Given the description of an element on the screen output the (x, y) to click on. 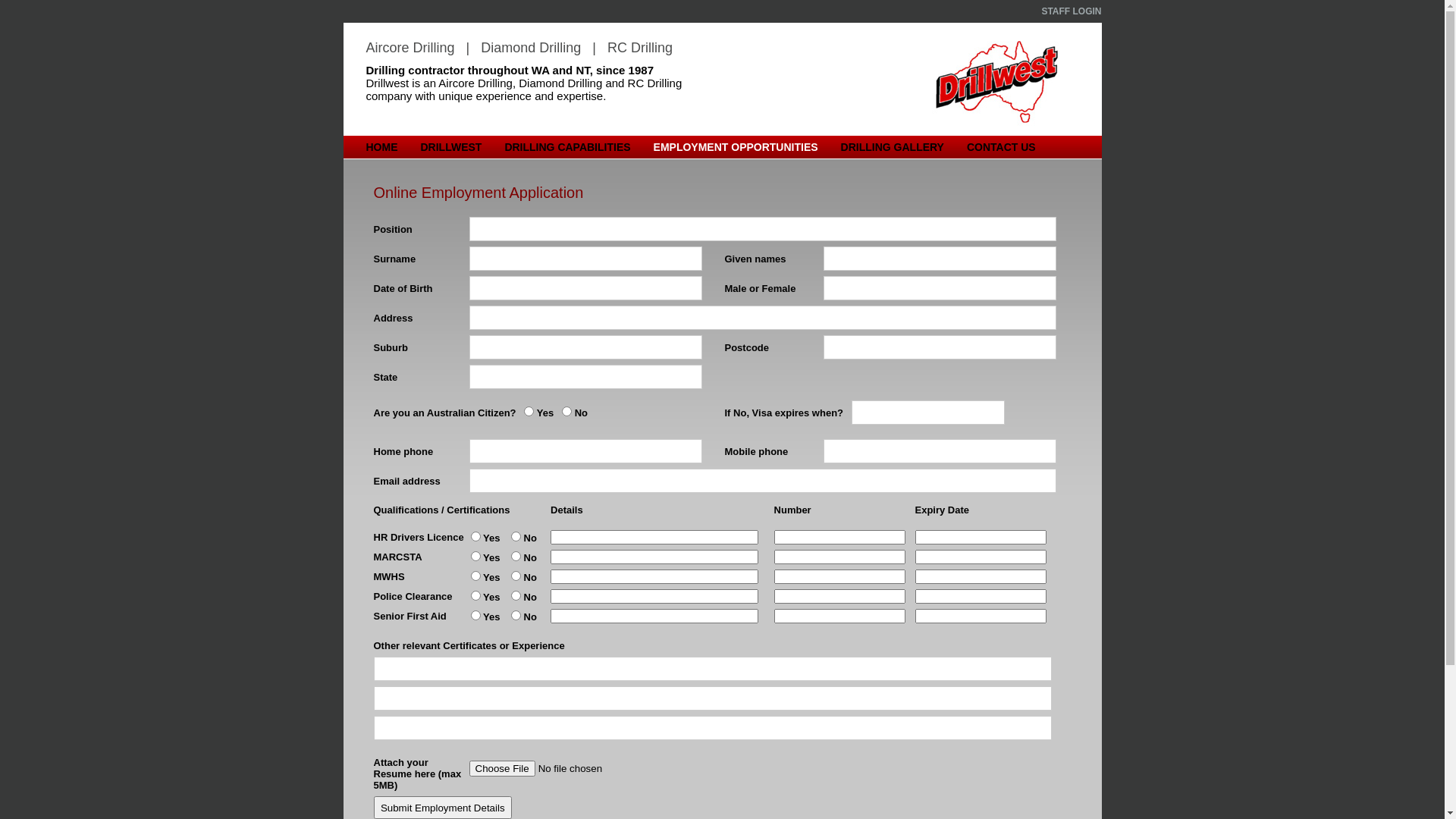
EMPLOYMENT OPPORTUNITIES Element type: text (731, 147)
Diamond Drilling Element type: text (530, 47)
DRILLING GALLERY Element type: text (888, 146)
Aircore Drilling Element type: text (409, 47)
CONTACT US Element type: text (997, 146)
DRILLING CAPABILITIES Element type: text (563, 146)
HOME Element type: text (377, 146)
RC Drilling Element type: text (639, 47)
STAFF LOGIN Element type: text (1071, 11)
DRILLWEST Element type: text (446, 146)
